Given the description of an element on the screen output the (x, y) to click on. 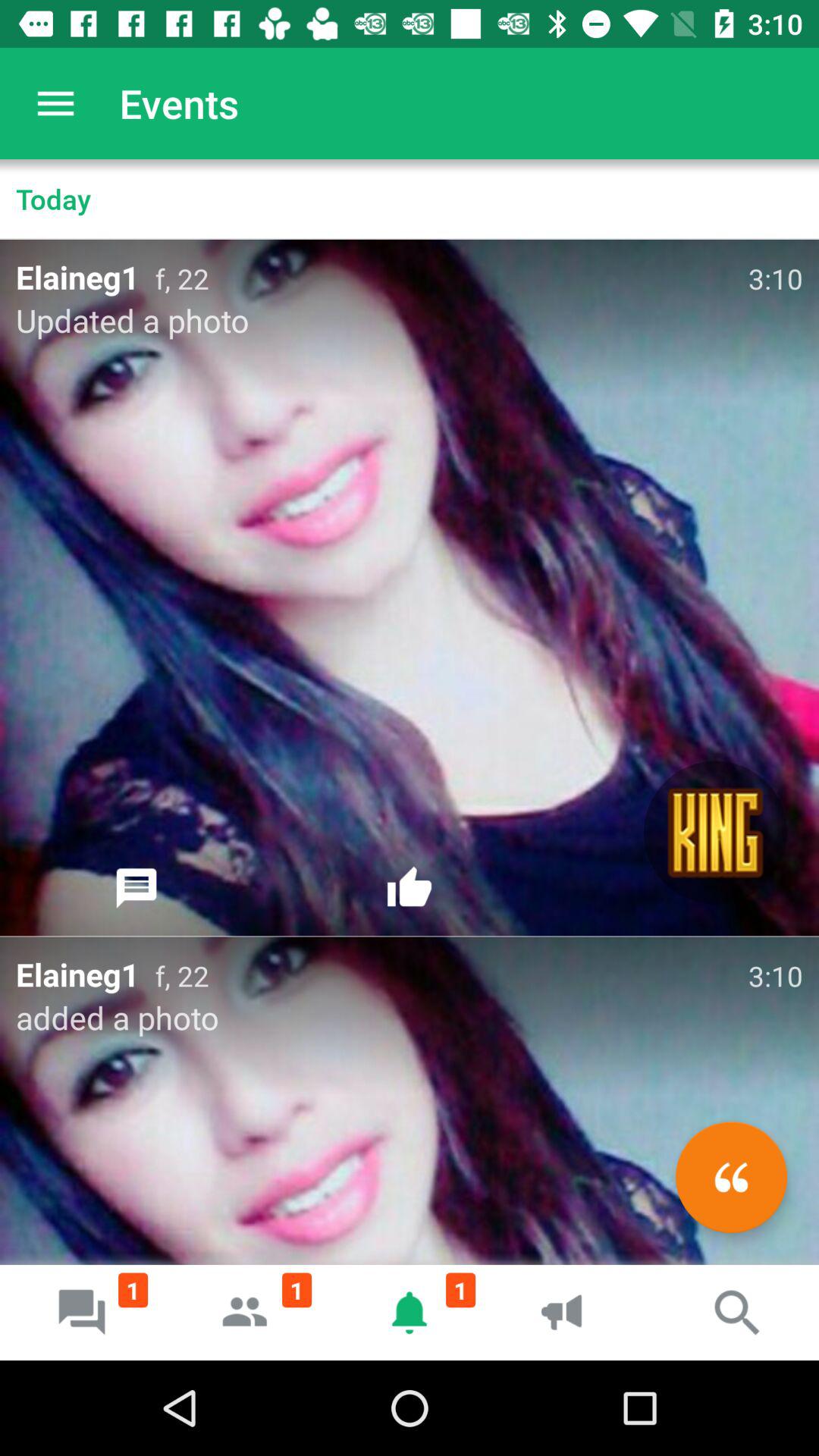
choose the icon below f, 22 item (715, 832)
